Given the description of an element on the screen output the (x, y) to click on. 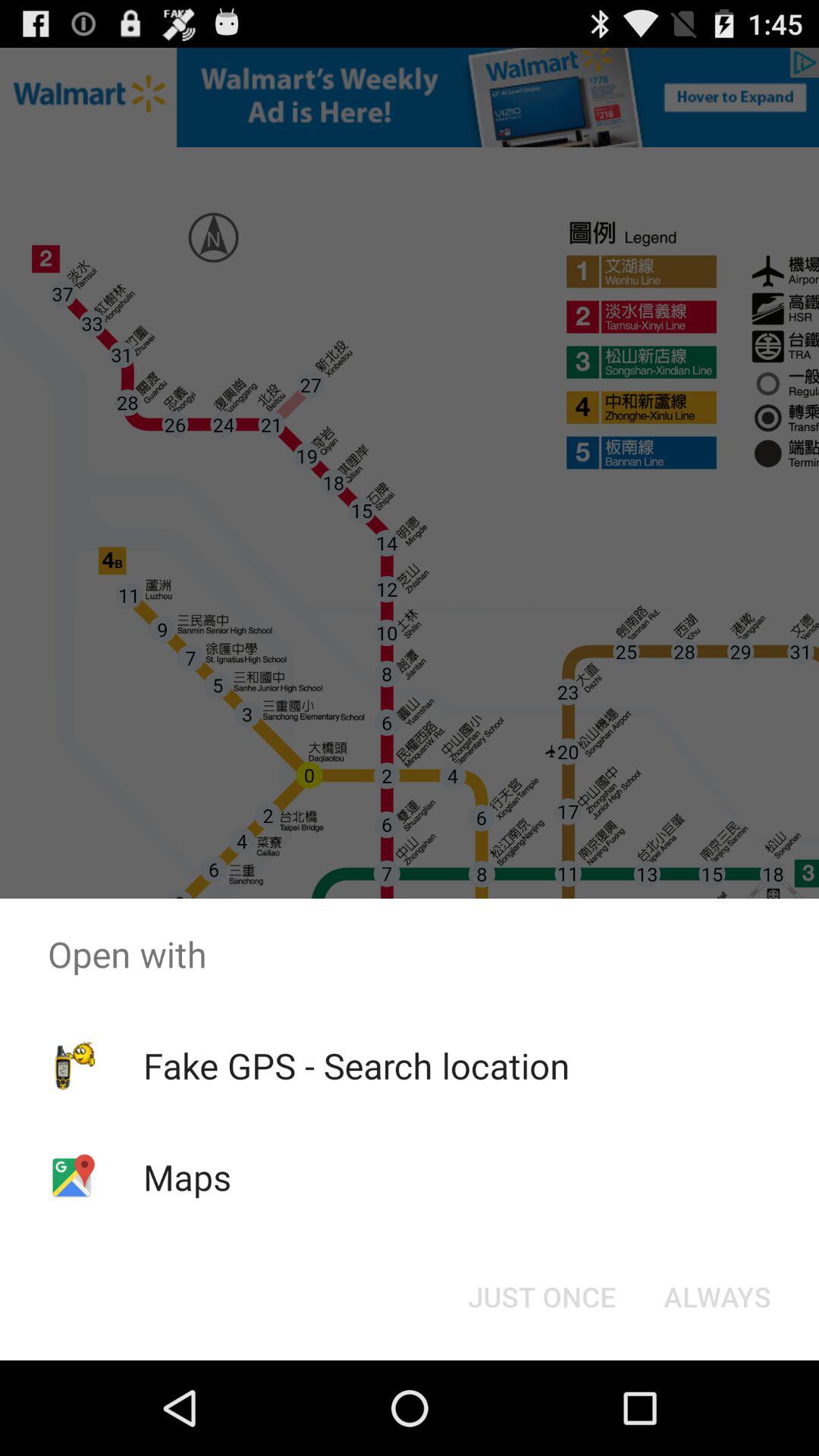
jump until the just once button (541, 1296)
